Given the description of an element on the screen output the (x, y) to click on. 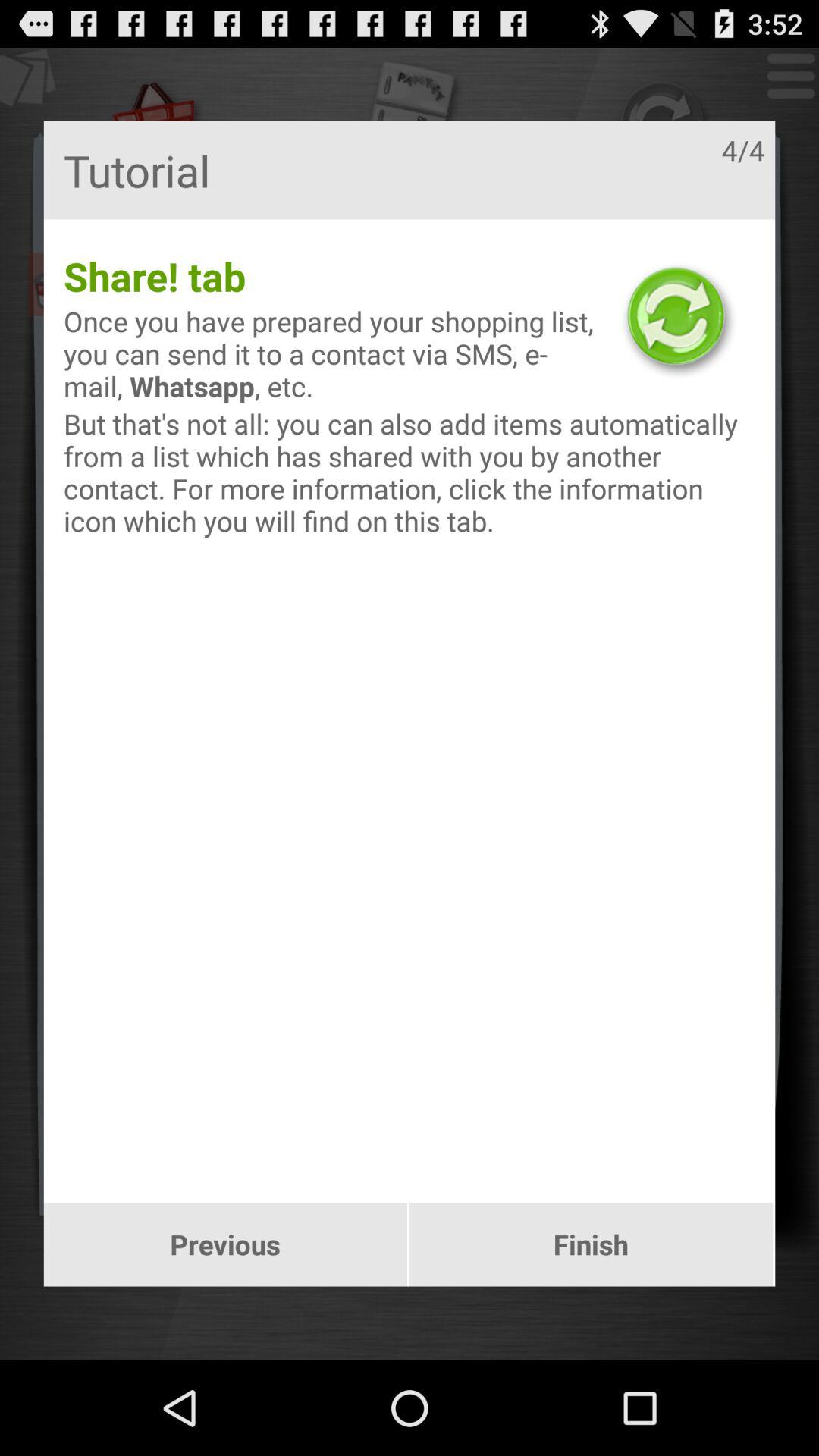
launch item next to finish button (225, 1244)
